Given the description of an element on the screen output the (x, y) to click on. 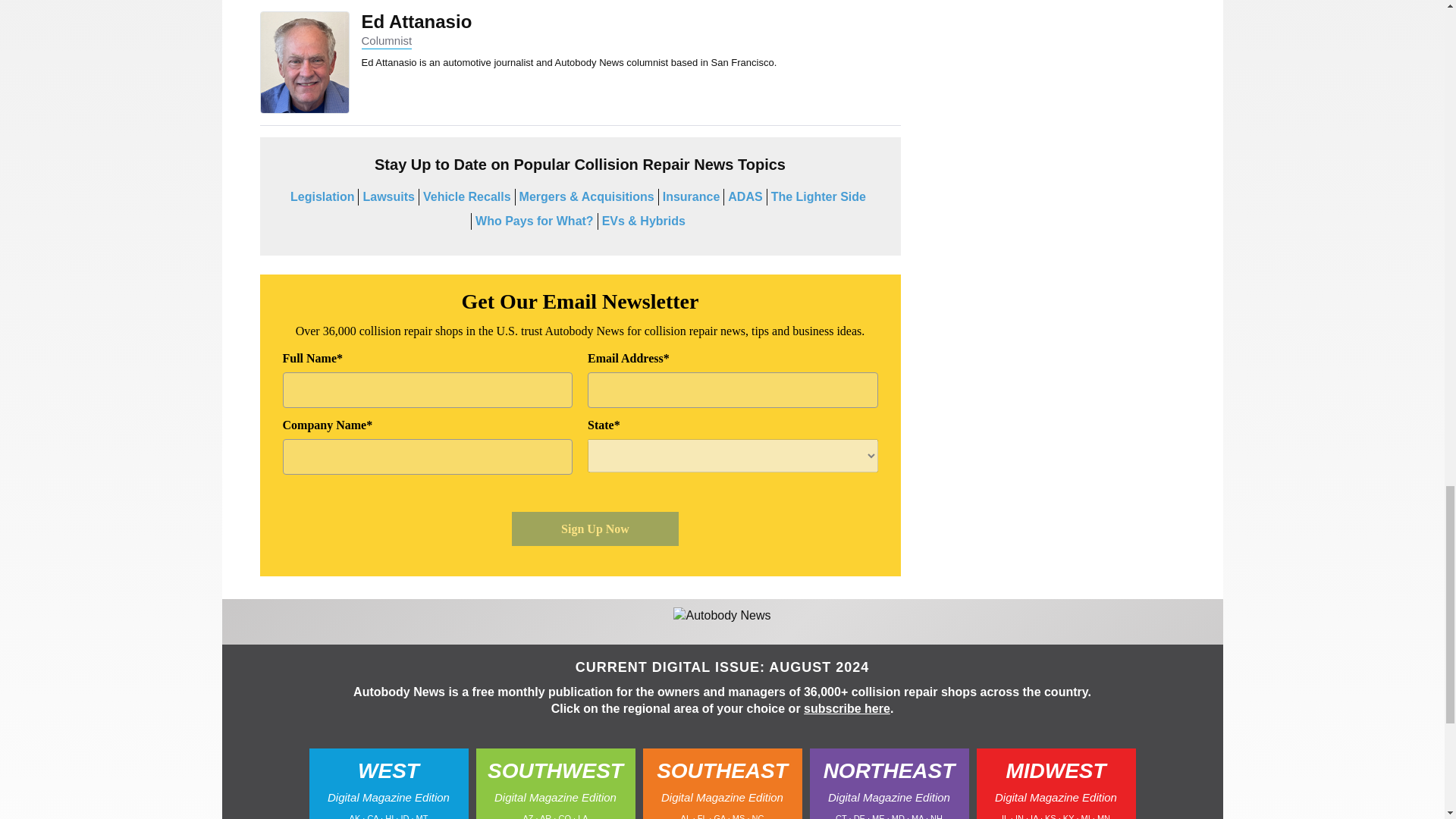
Legislation (321, 196)
Vehicle Recalls (467, 196)
The Lighter Side (818, 196)
Lawsuits (387, 196)
Who Pays for What? (535, 220)
ADAS (744, 196)
Insurance (691, 196)
